Given the description of an element on the screen output the (x, y) to click on. 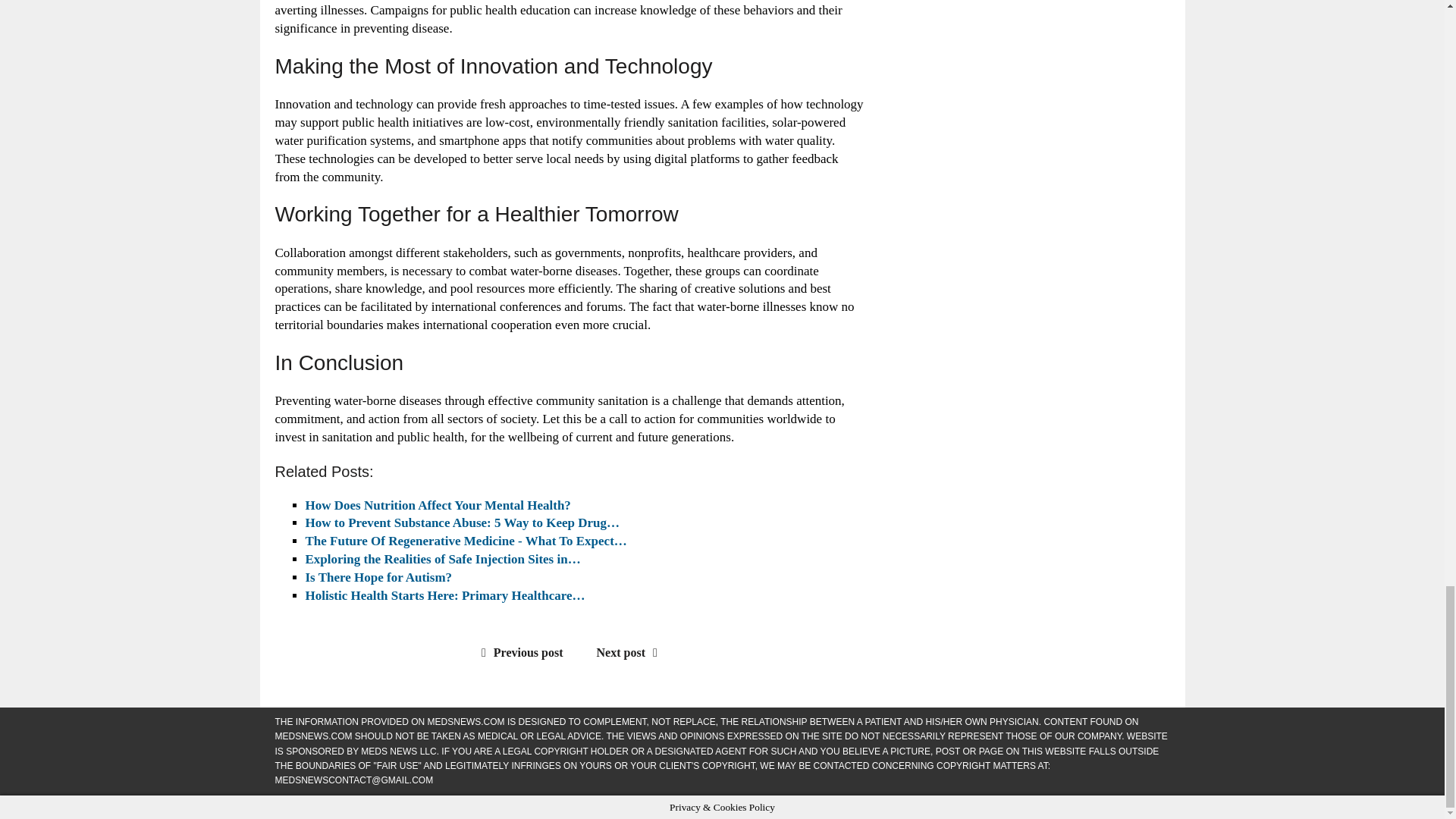
Previous post (518, 652)
How Does Nutrition Affect Your Mental Health? (437, 504)
Next post (630, 652)
Is There Hope for Autism? (377, 577)
